Given the description of an element on the screen output the (x, y) to click on. 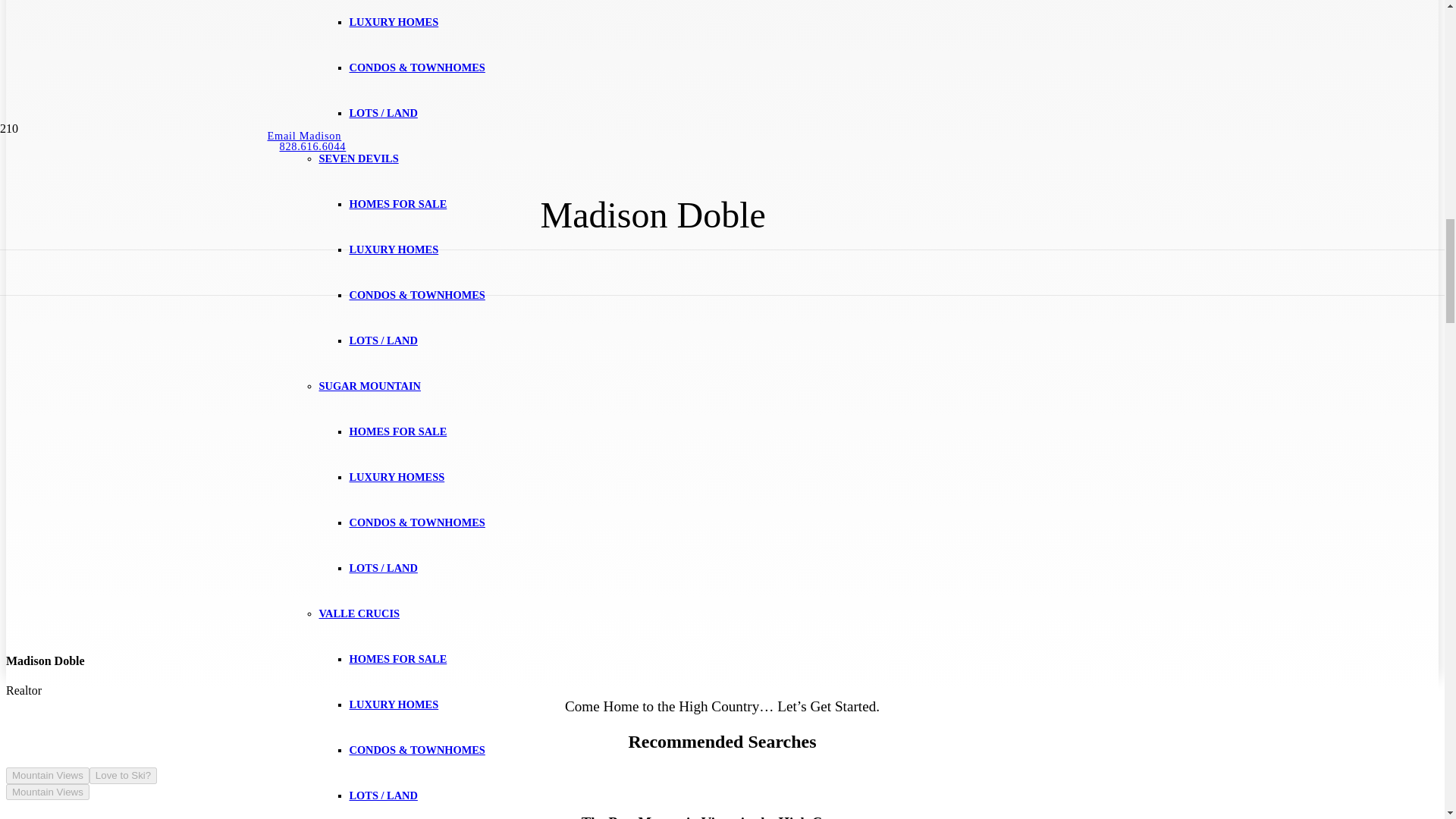
Open Homes (354, 67)
